Given the description of an element on the screen output the (x, y) to click on. 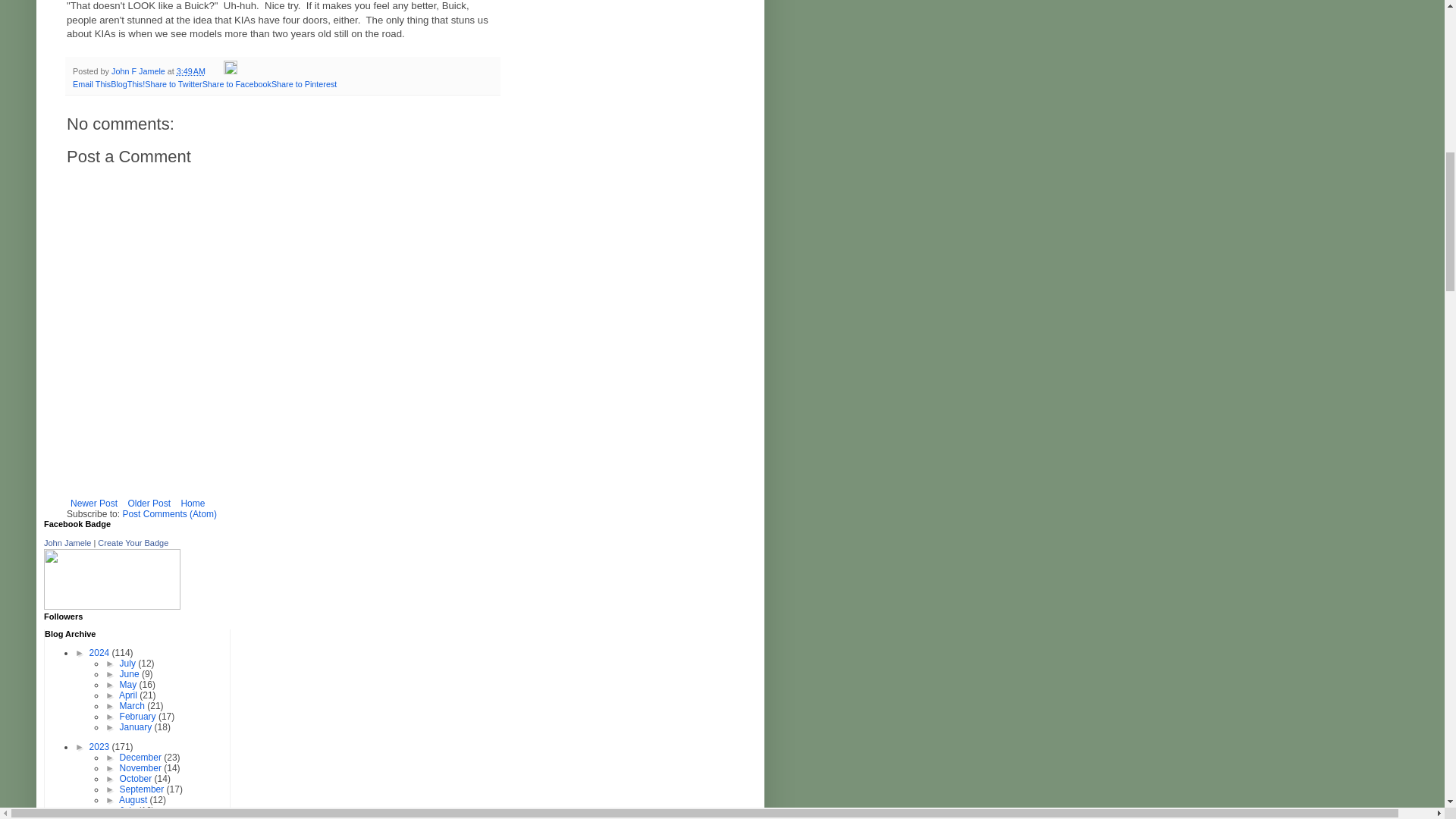
Share to Pinterest (303, 83)
Share to Facebook (236, 83)
Newer Post (93, 503)
Edit Post (230, 71)
Share to Facebook (236, 83)
July (128, 663)
Older Post (148, 503)
January (136, 726)
Share to Twitter (173, 83)
2024 (100, 652)
Email Post (216, 71)
Create Your Badge (132, 542)
Make your own badge! (132, 542)
April (129, 695)
